Given the description of an element on the screen output the (x, y) to click on. 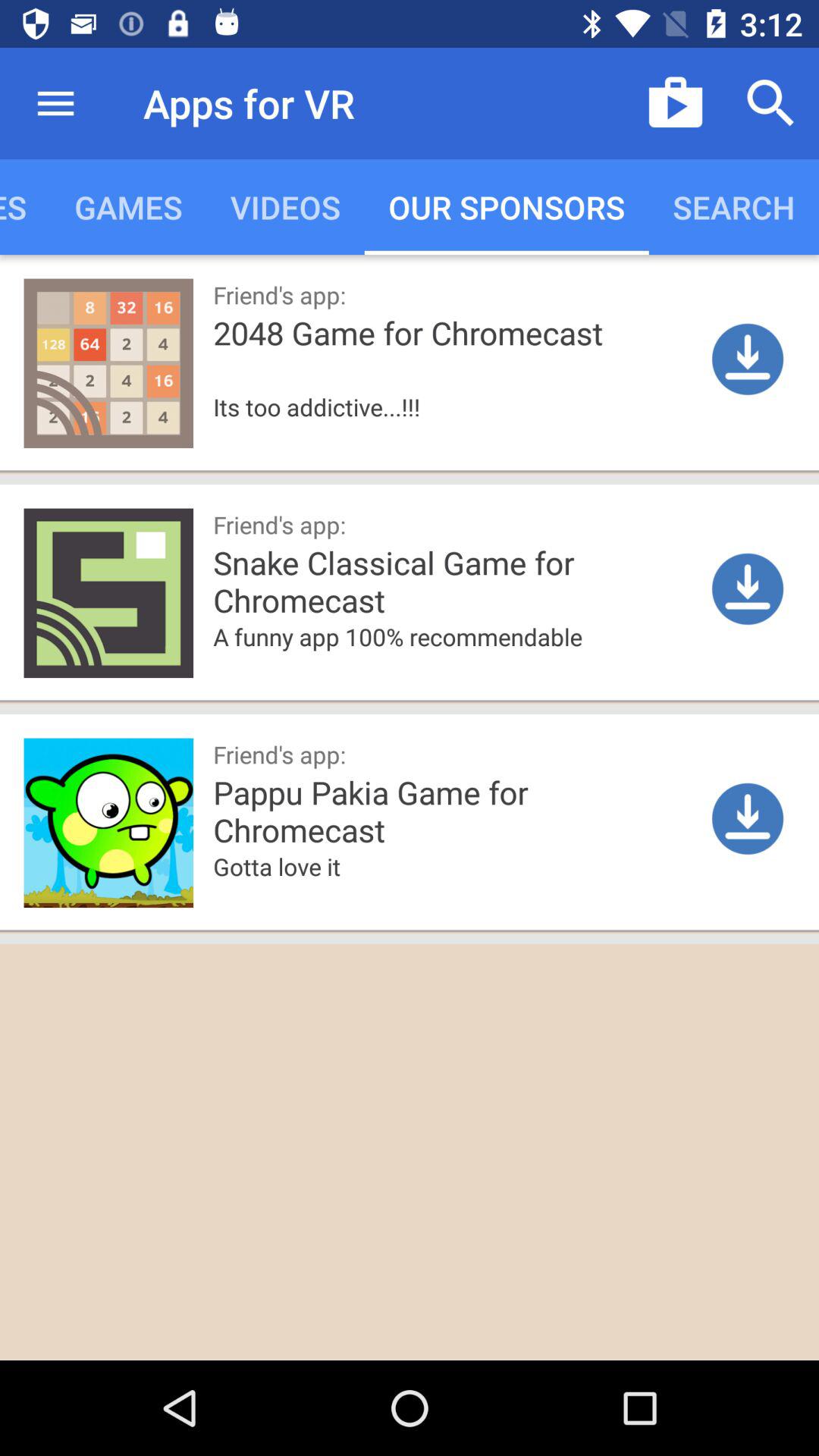
swipe until snake classical game item (508, 580)
